Given the description of an element on the screen output the (x, y) to click on. 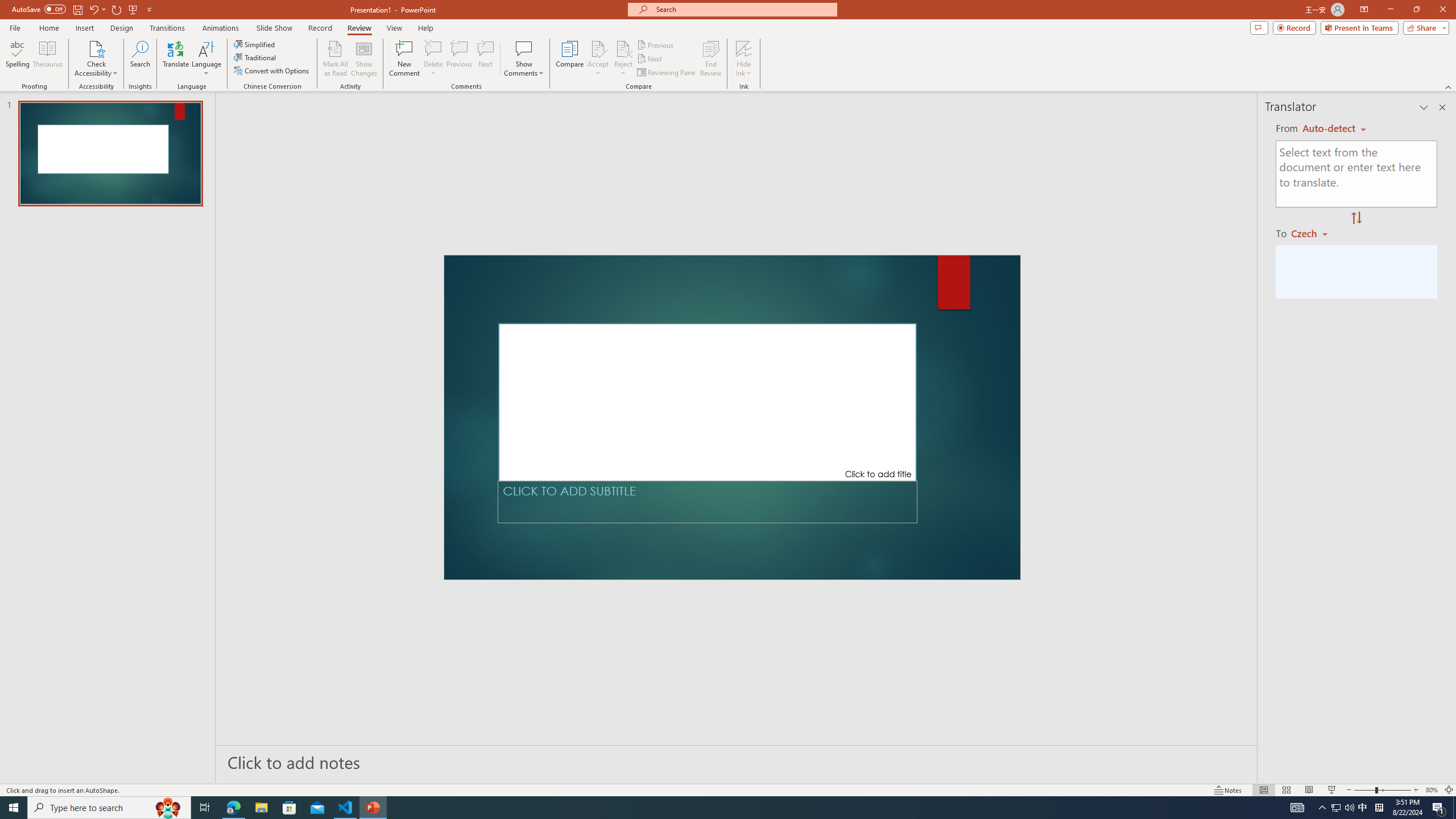
Zoom 80% (1431, 790)
